Given the description of an element on the screen output the (x, y) to click on. 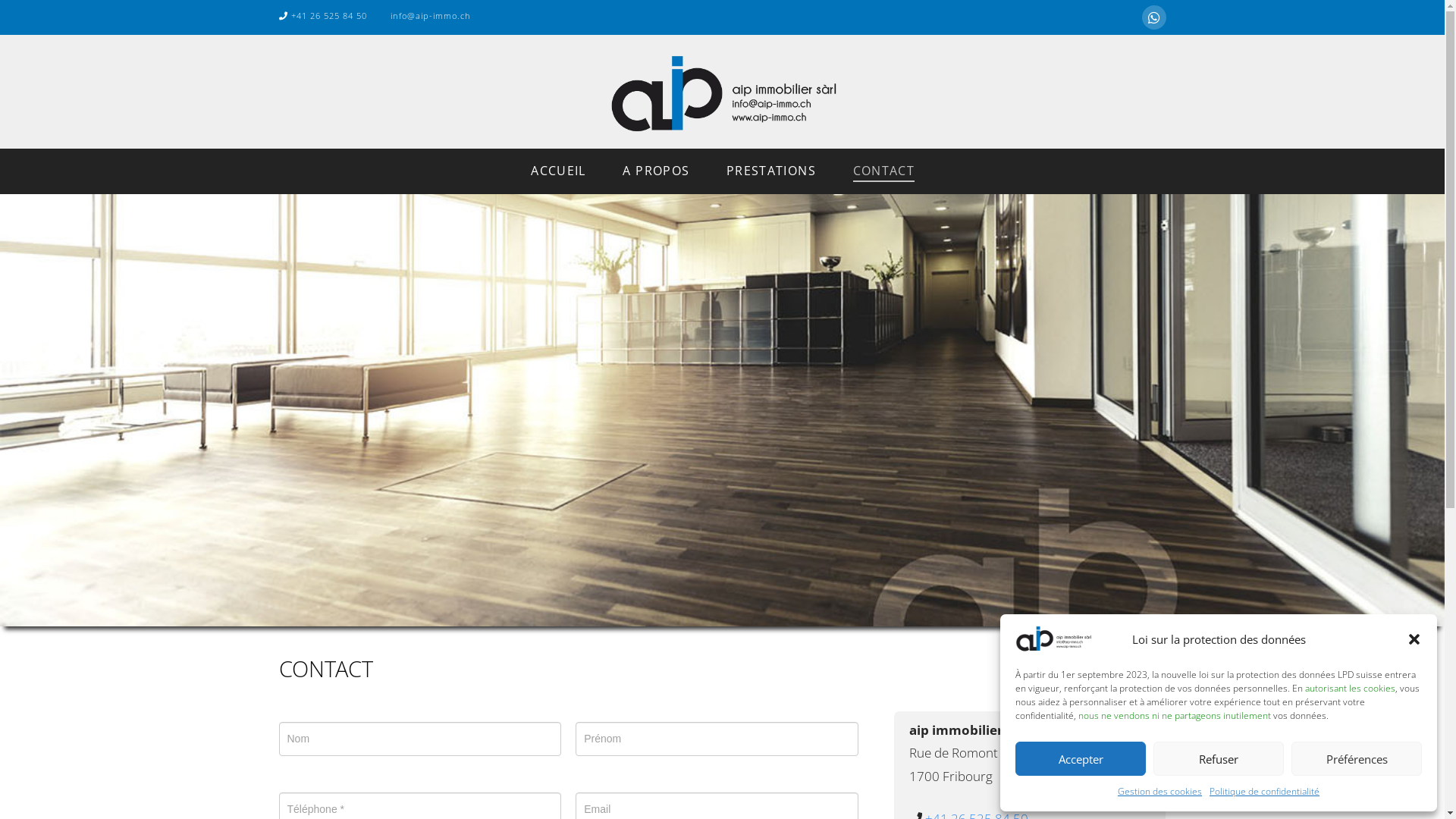
PRESTATIONS Element type: text (770, 171)
+41 26 525 84 50 Element type: text (323, 15)
Gestion des cookies Element type: text (1159, 791)
Accepter Element type: text (1080, 758)
info@aip-immo.ch Element type: text (423, 15)
A PROPOS Element type: text (655, 171)
CONTACT Element type: text (883, 171)
Refuser Element type: text (1218, 758)
Whatsapp Element type: hover (1154, 16)
ACCUEIL Element type: text (557, 171)
